Given the description of an element on the screen output the (x, y) to click on. 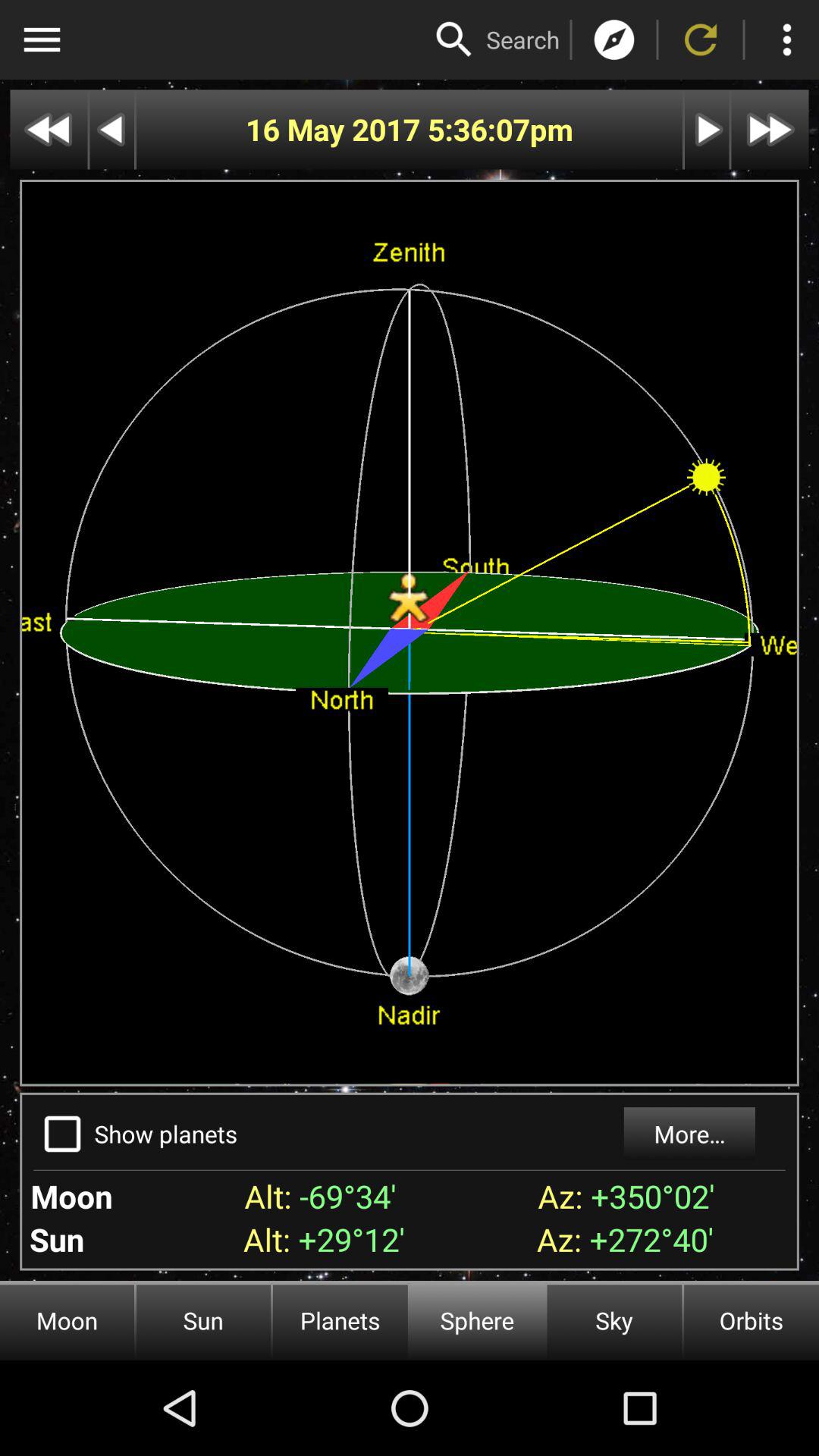
more button (787, 39)
